Given the description of an element on the screen output the (x, y) to click on. 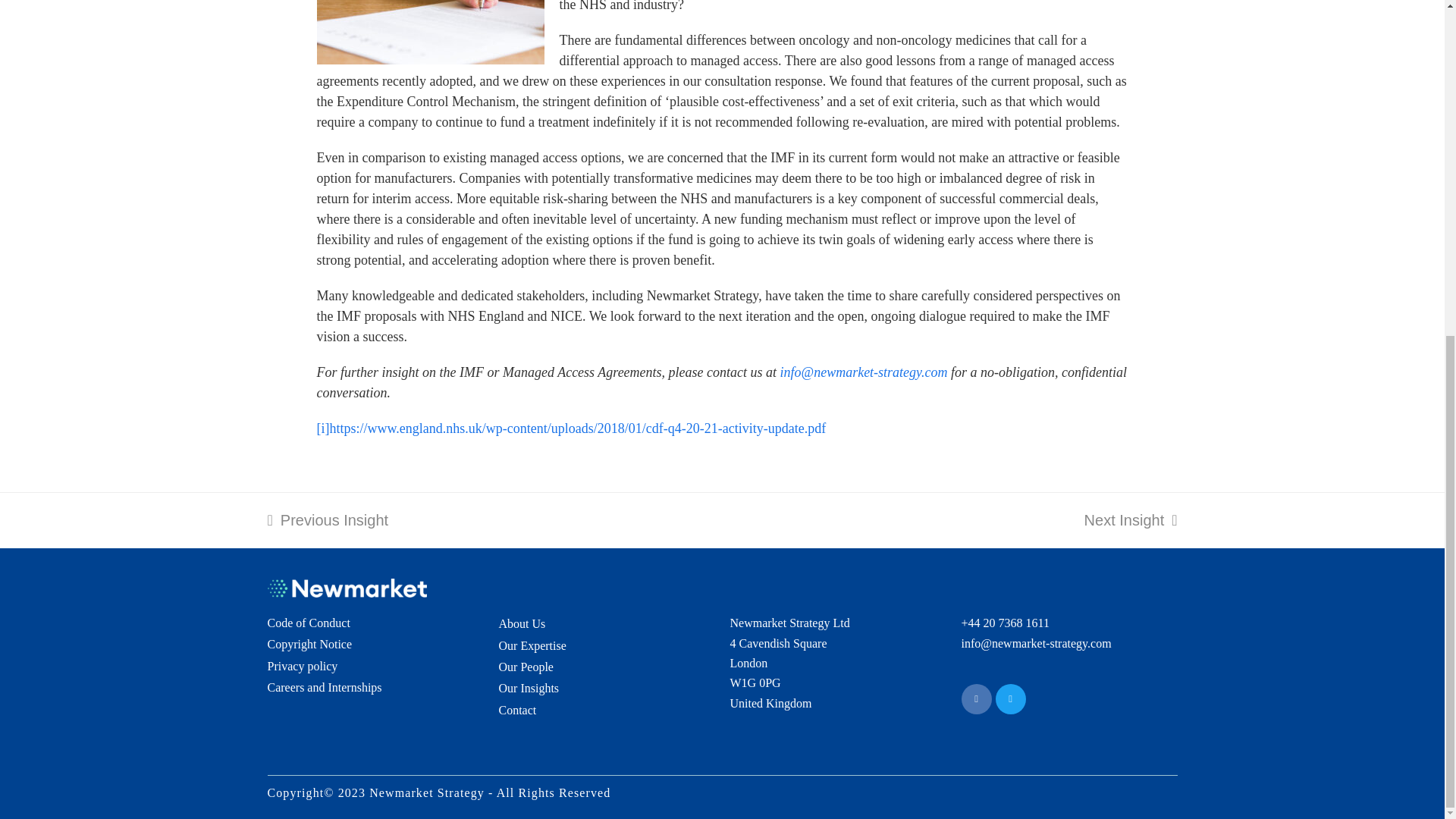
LinkedIn (975, 698)
Careers and Internships (323, 686)
Our Insights (529, 687)
Code of Conduct (327, 519)
Twitter (307, 622)
Twitter (1009, 698)
LinkedIn (1009, 698)
About Us (975, 698)
Our Expertise (522, 623)
